Given the description of an element on the screen output the (x, y) to click on. 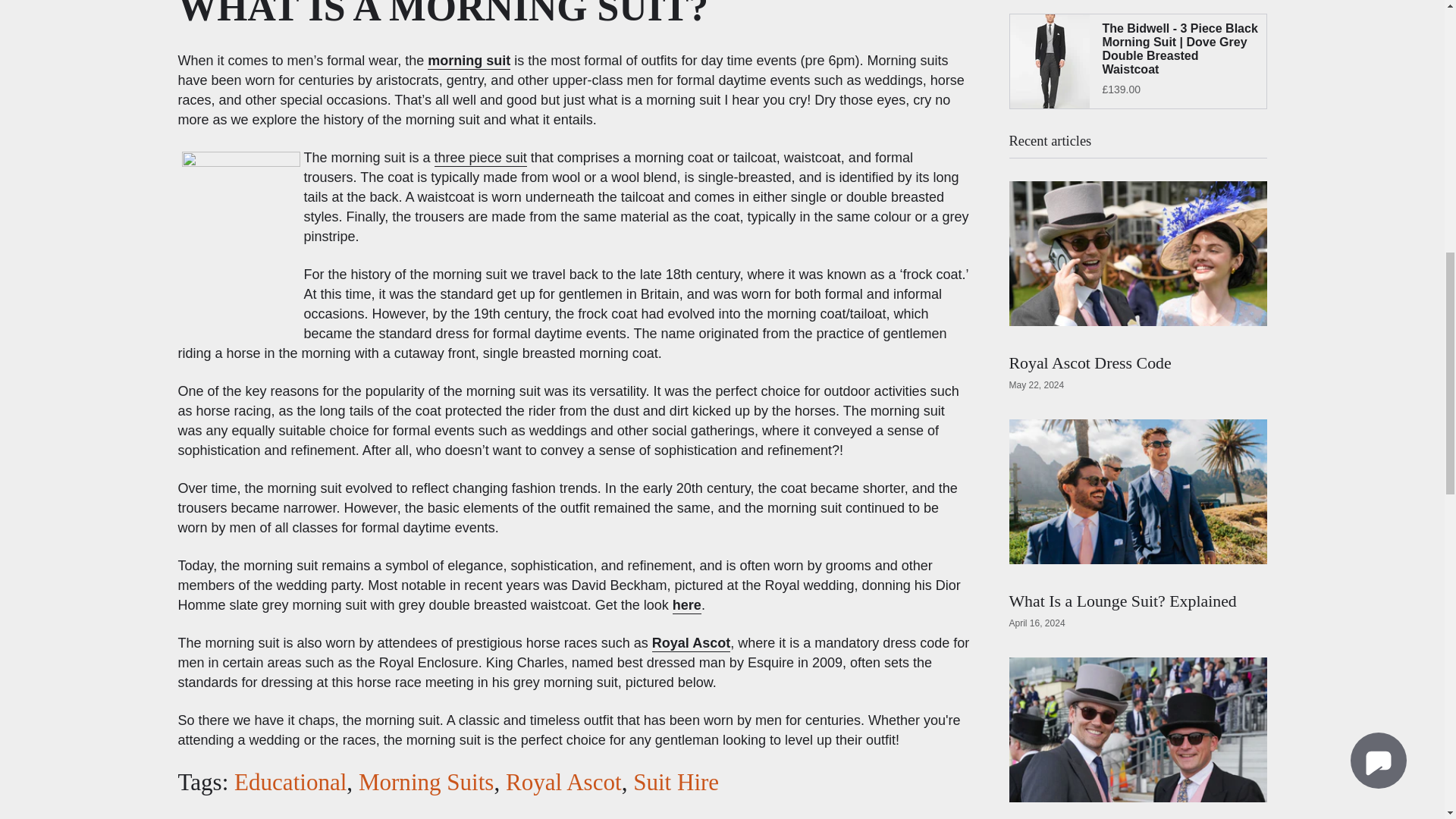
Journal tagged Suit Hire (676, 782)
Royal Ascot Dress Code (1089, 362)
Journal tagged Morning Suits (426, 782)
Journal tagged Royal Ascot (563, 782)
Journal tagged Educational (290, 782)
What Is a Lounge Suit? Explained (1122, 601)
